Given the description of an element on the screen output the (x, y) to click on. 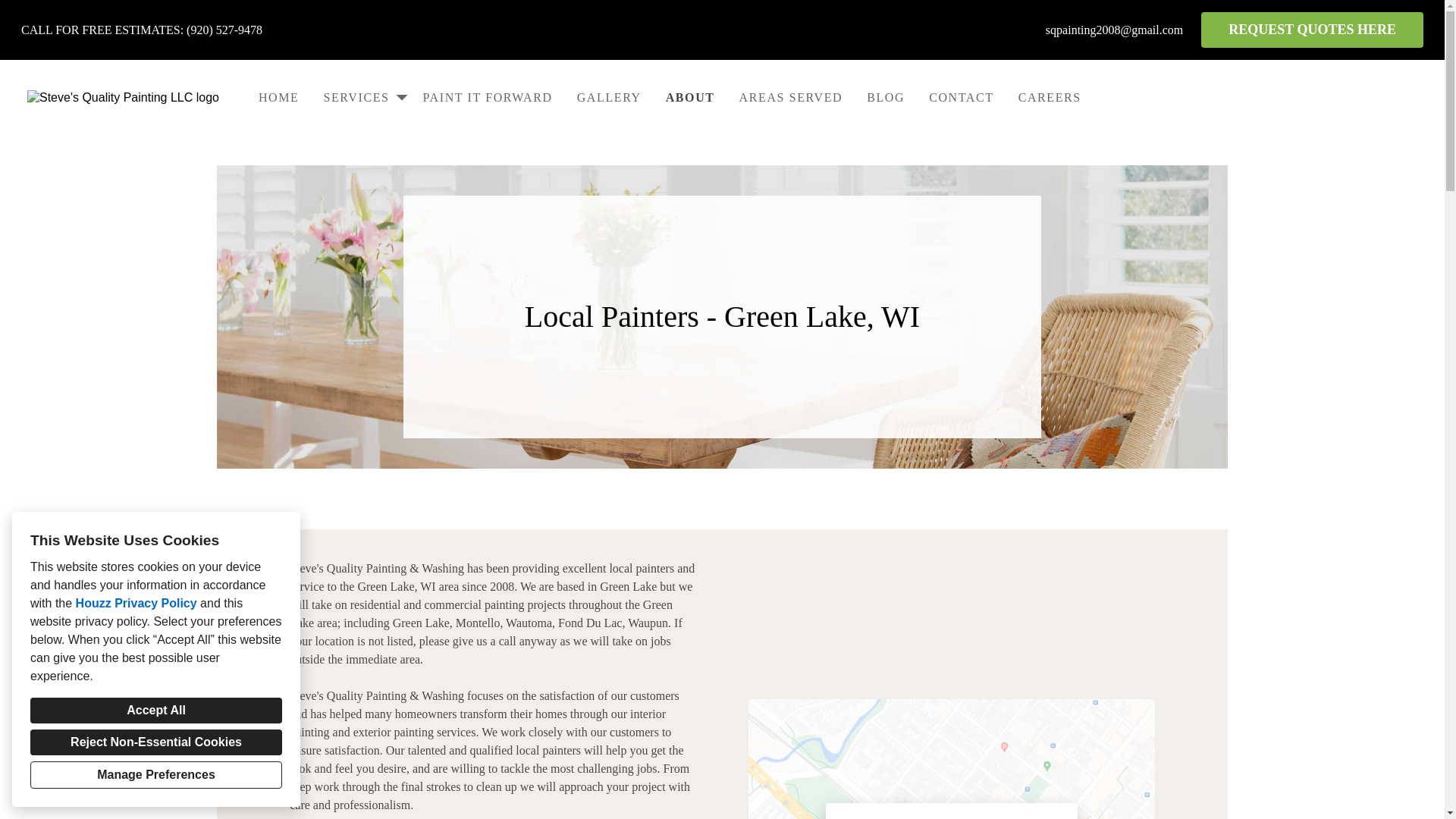
SERVICES (360, 97)
ABOUT (689, 97)
Manage Preferences (156, 774)
Reject Non-Essential Cookies (156, 742)
GALLERY (608, 97)
PAINT IT FORWARD (487, 97)
Houzz Privacy Policy (135, 603)
CAREERS (1049, 97)
REQUEST QUOTES HERE (1312, 29)
Accept All (156, 710)
Skip to main content (12, 12)
Open a dialog to customize your preferences (156, 774)
HOME (278, 97)
BLOG (885, 97)
AREAS SERVED (791, 97)
